Given the description of an element on the screen output the (x, y) to click on. 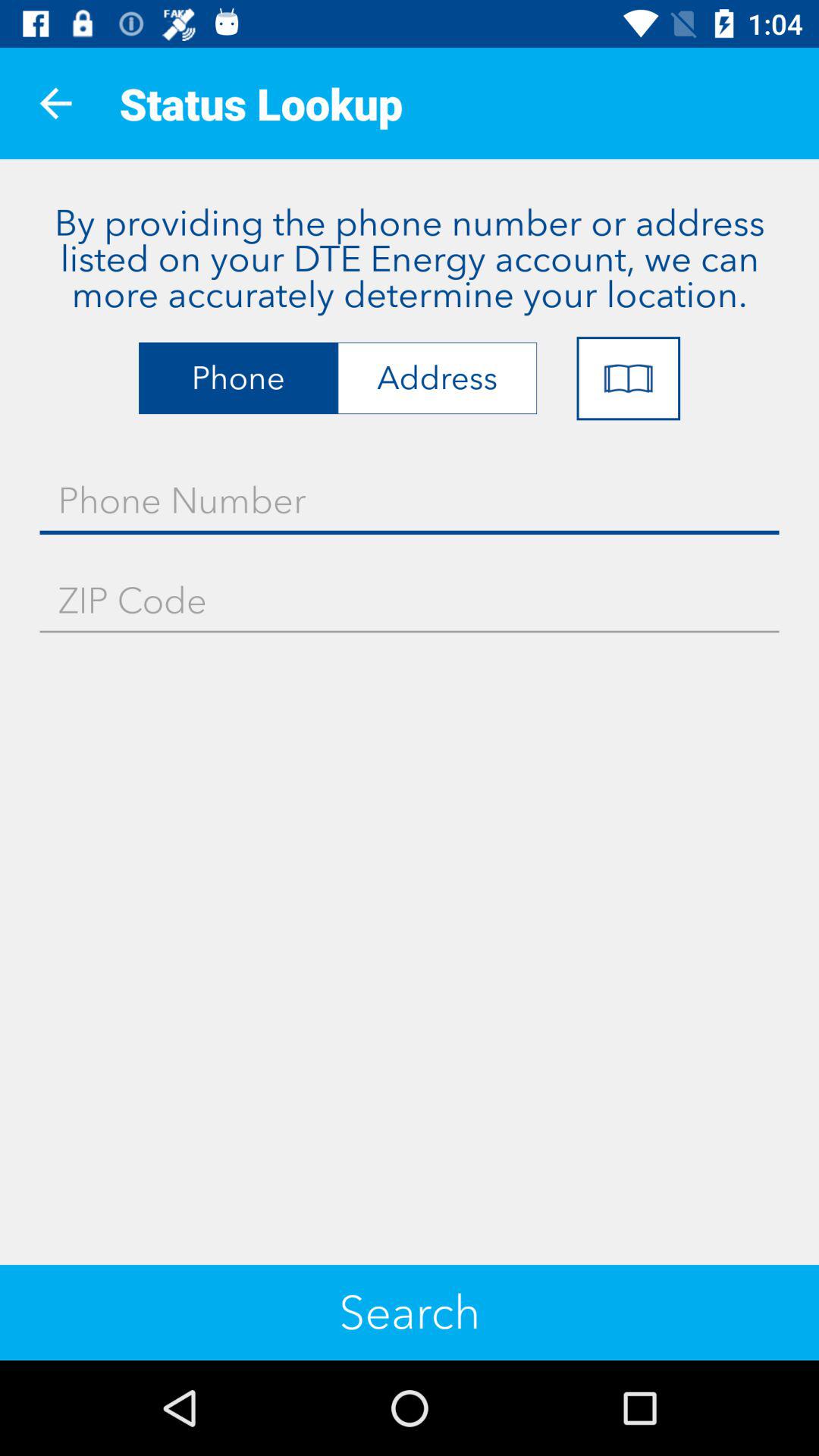
open item below the by providing the (628, 378)
